Given the description of an element on the screen output the (x, y) to click on. 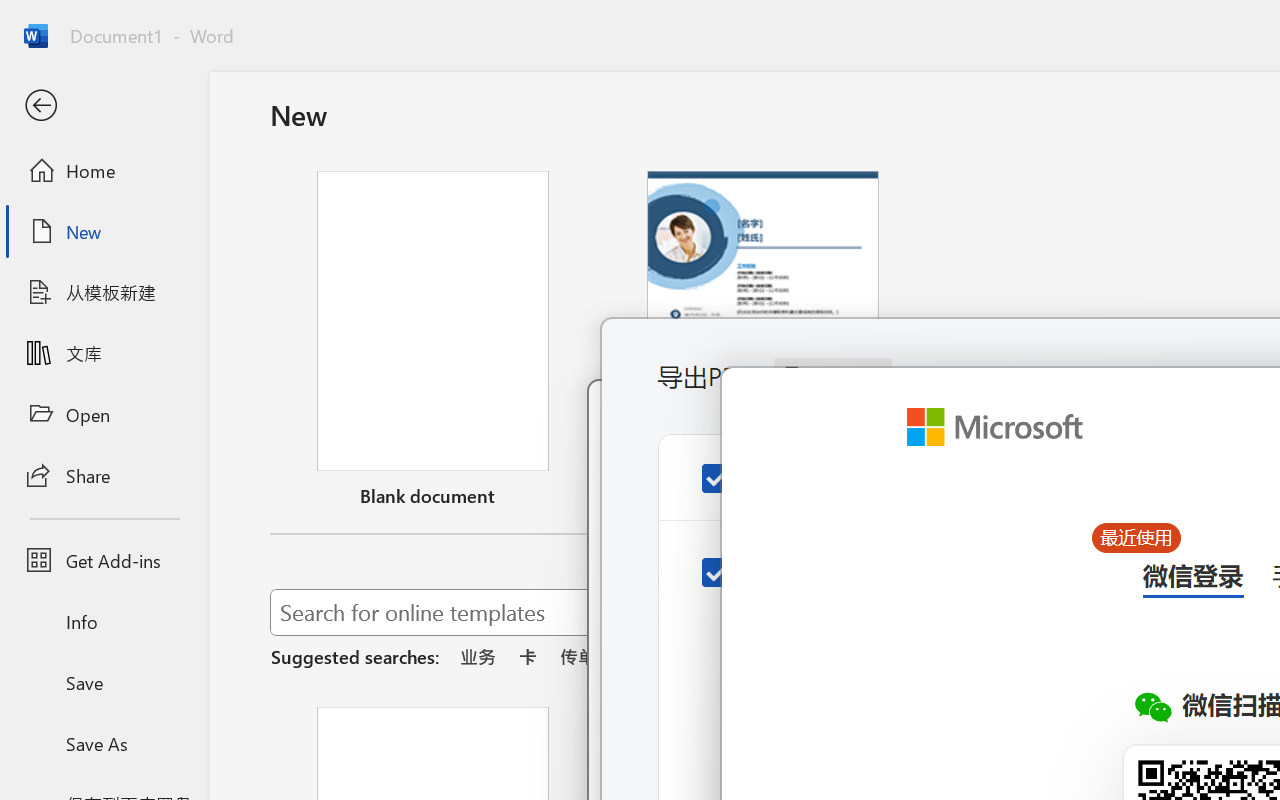
Save As (104, 743)
